Given the description of an element on the screen output the (x, y) to click on. 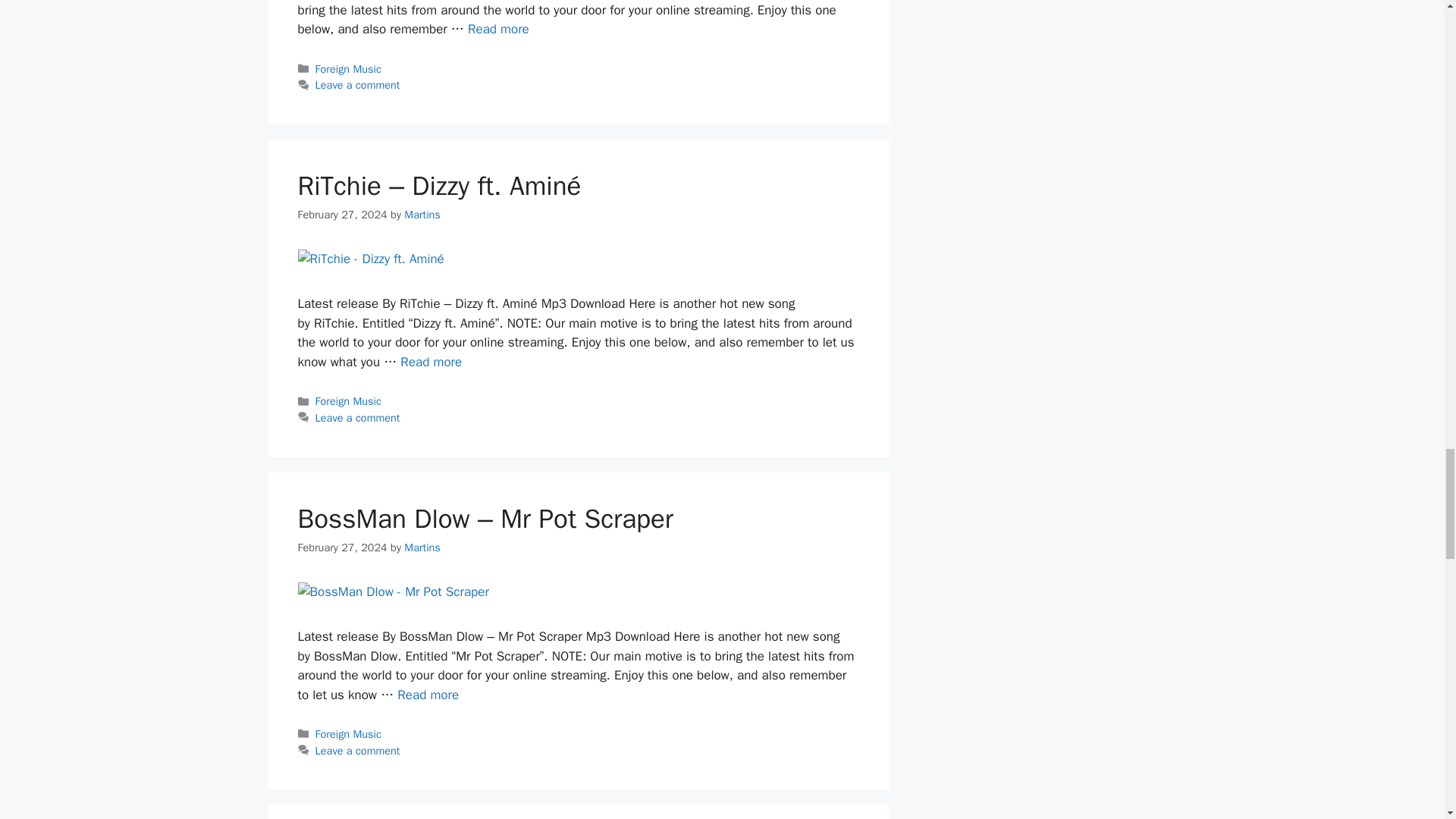
View all posts by Martins (422, 214)
